Given the description of an element on the screen output the (x, y) to click on. 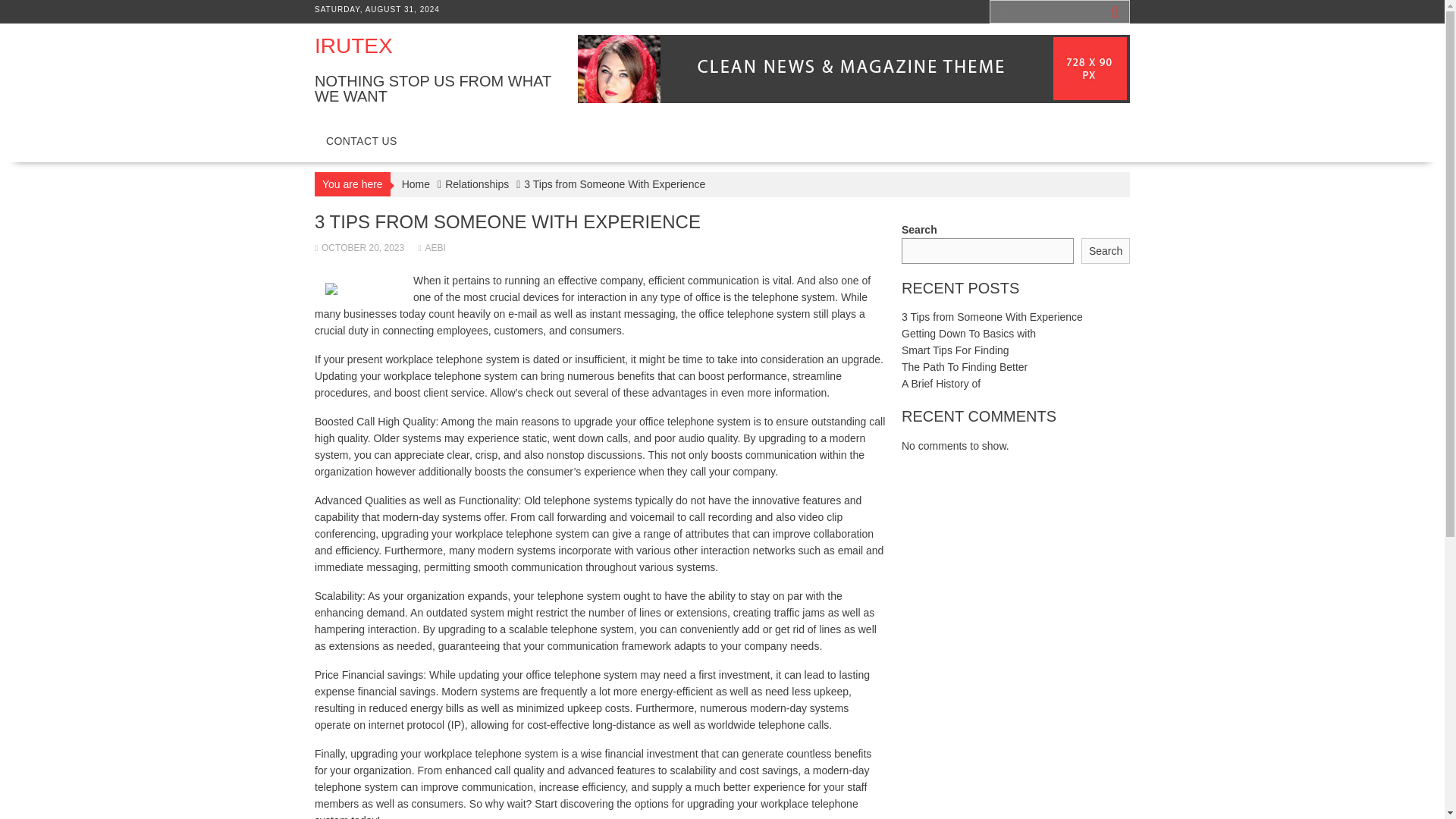
The Path To Finding Better (964, 367)
CONTACT US (361, 140)
Home (415, 184)
3 Tips from Someone With Experience (992, 316)
Getting Down To Basics with (968, 333)
Relationships (476, 184)
Smart Tips For Finding (955, 349)
Search (1105, 251)
OCTOBER 20, 2023 (359, 247)
AEBI (432, 247)
